Given the description of an element on the screen output the (x, y) to click on. 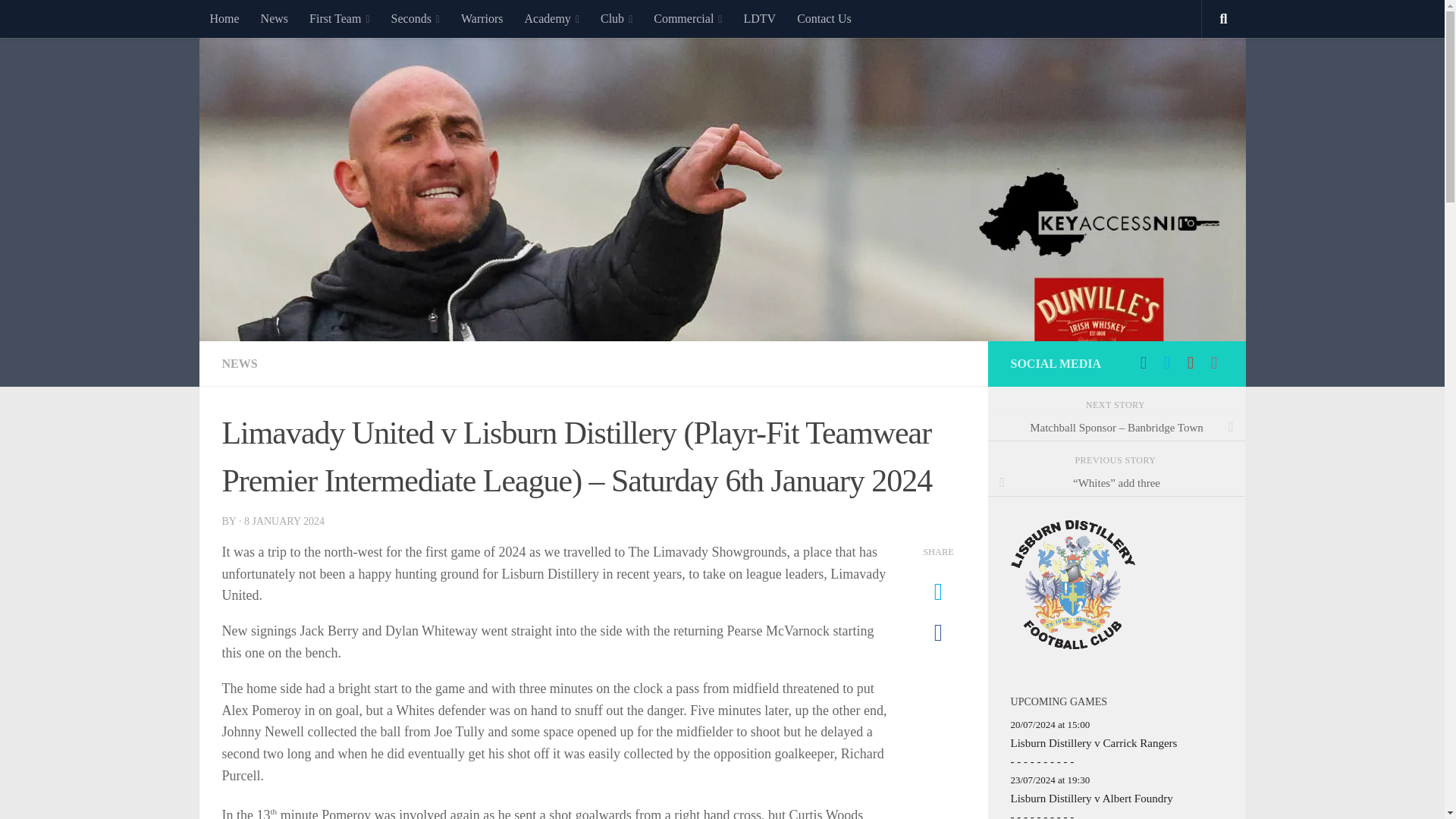
Follow us on Twitter (1167, 362)
Skip to content (59, 20)
Follow us on Youtube (1189, 362)
